Given the description of an element on the screen output the (x, y) to click on. 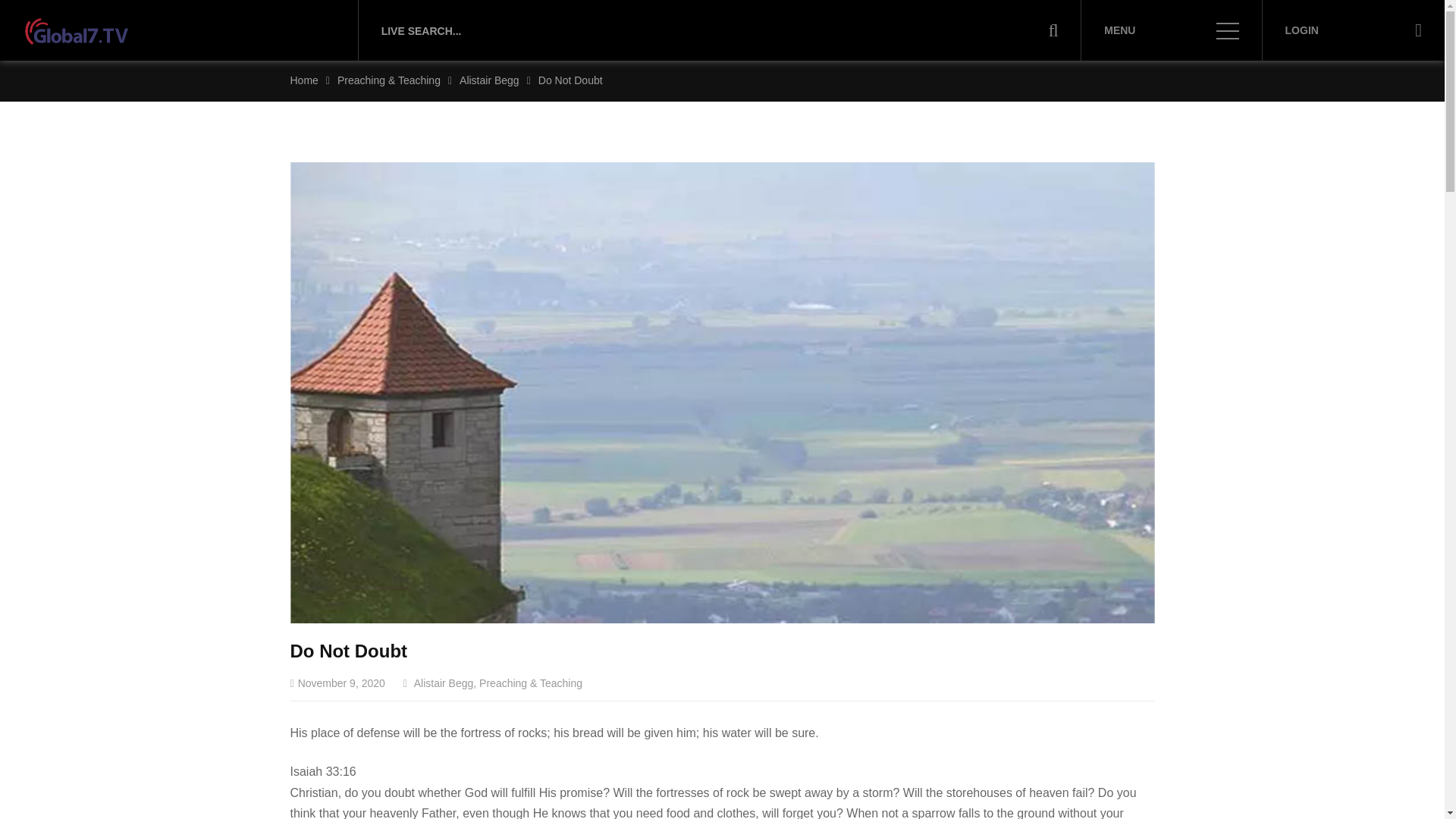
Home (303, 80)
Alistair Begg (443, 683)
November 9, 2020 (336, 683)
MENU (1170, 30)
Alistair Begg (489, 80)
